Given the description of an element on the screen output the (x, y) to click on. 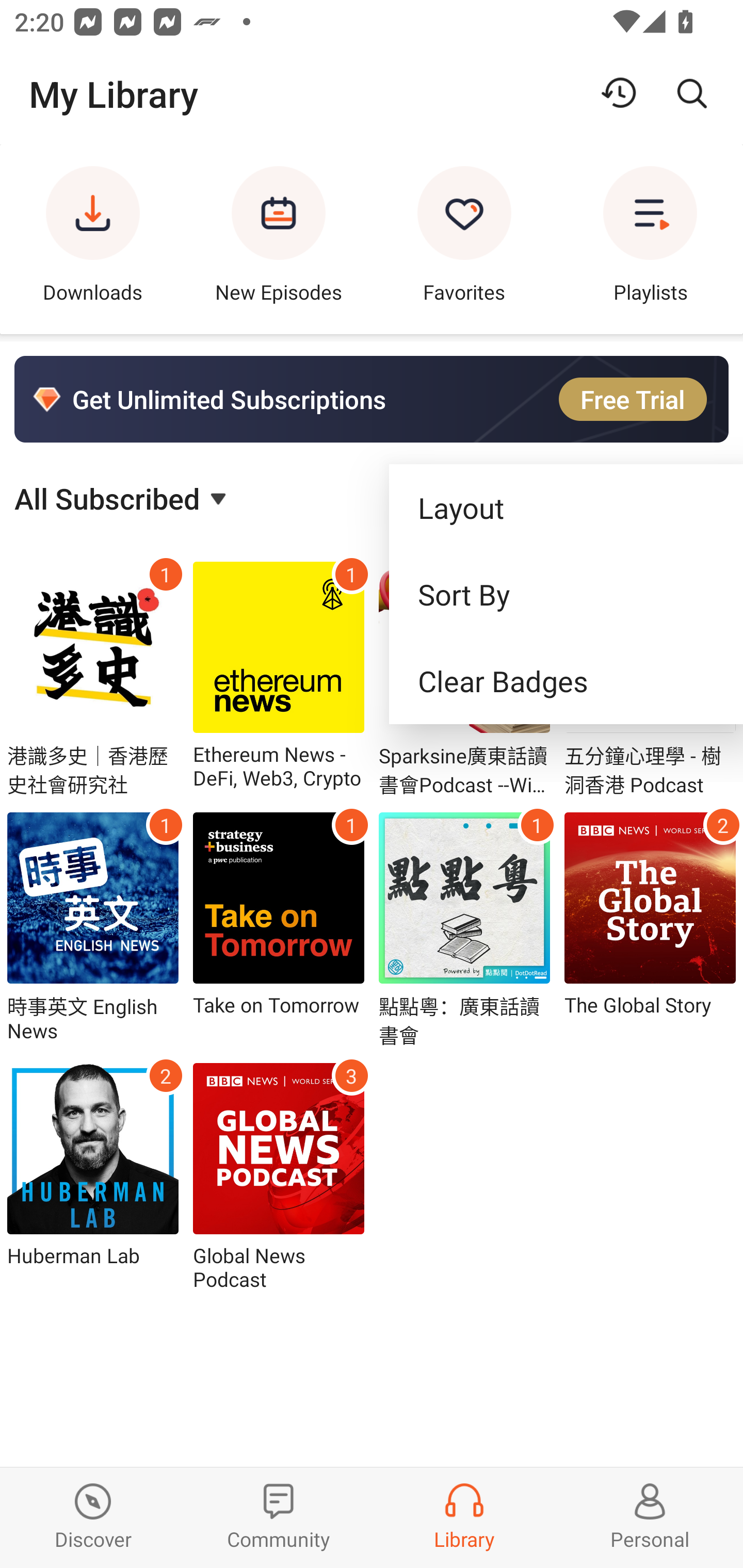
Layout (566, 507)
Sort By (566, 594)
Clear Badges (566, 681)
